Given the description of an element on the screen output the (x, y) to click on. 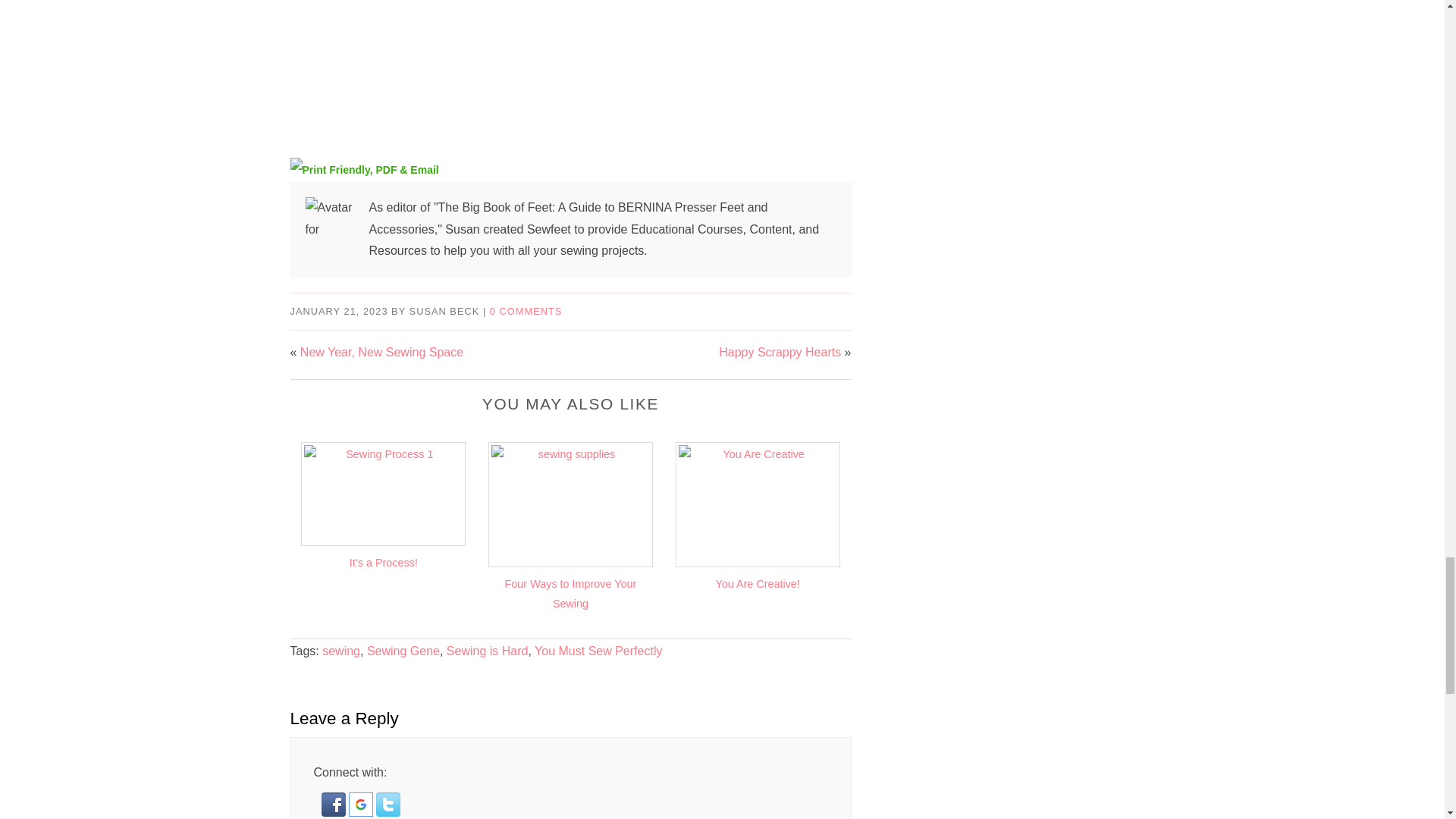
Happy Scrappy Hearts (780, 351)
Connect with Twitter (387, 812)
Connect with Google (362, 812)
Sewing Gene (402, 650)
You Must Sew Perfectly (598, 650)
New Year, New Sewing Space (381, 351)
sewing (340, 650)
Sewing is Hard (487, 650)
0 COMMENTS (525, 310)
You Are Creative! (756, 583)
Connect with Facebook (335, 812)
Four Ways to Improve Your Sewing (571, 593)
